Given the description of an element on the screen output the (x, y) to click on. 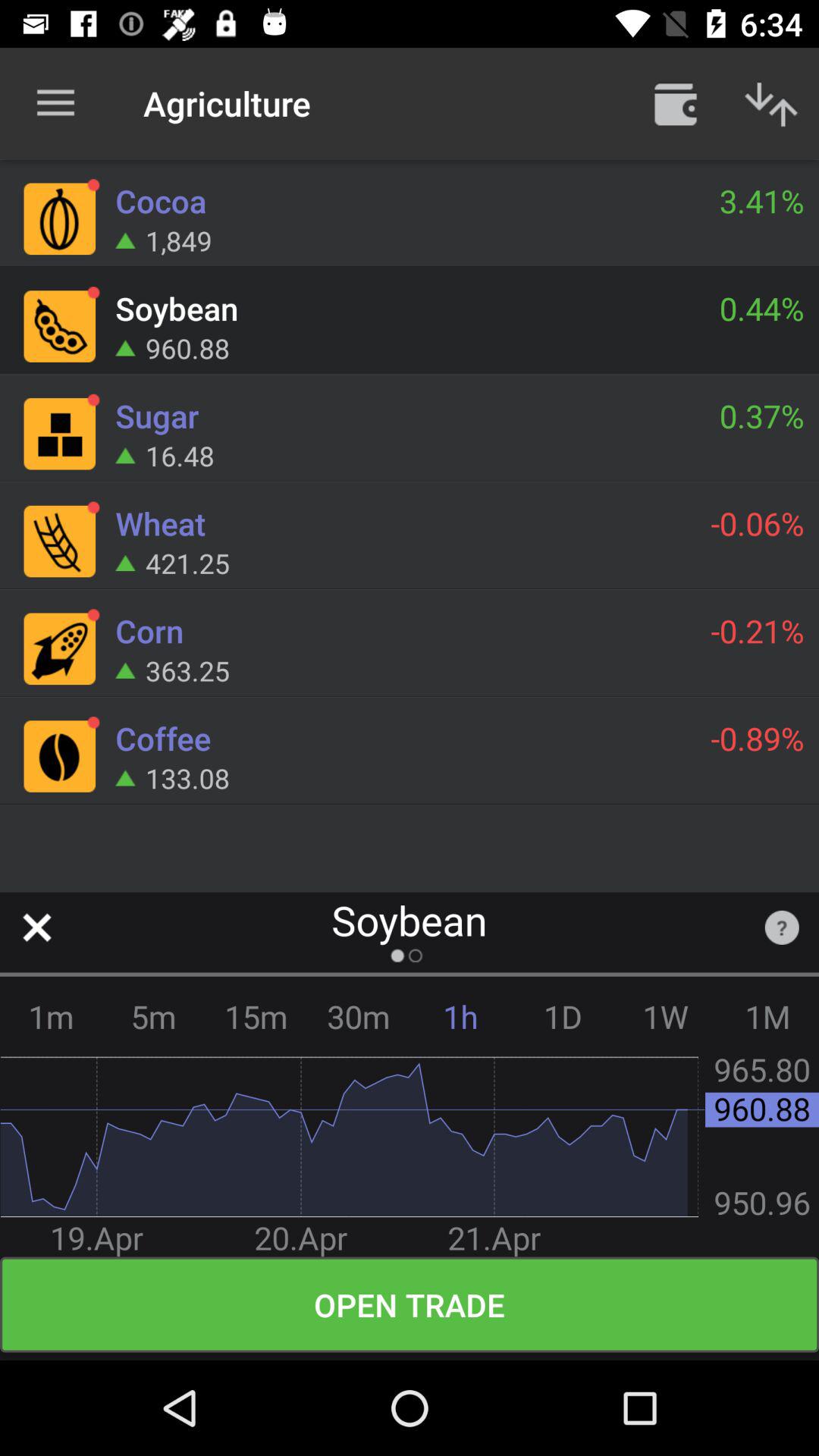
choose the 30m icon (358, 1016)
